Given the description of an element on the screen output the (x, y) to click on. 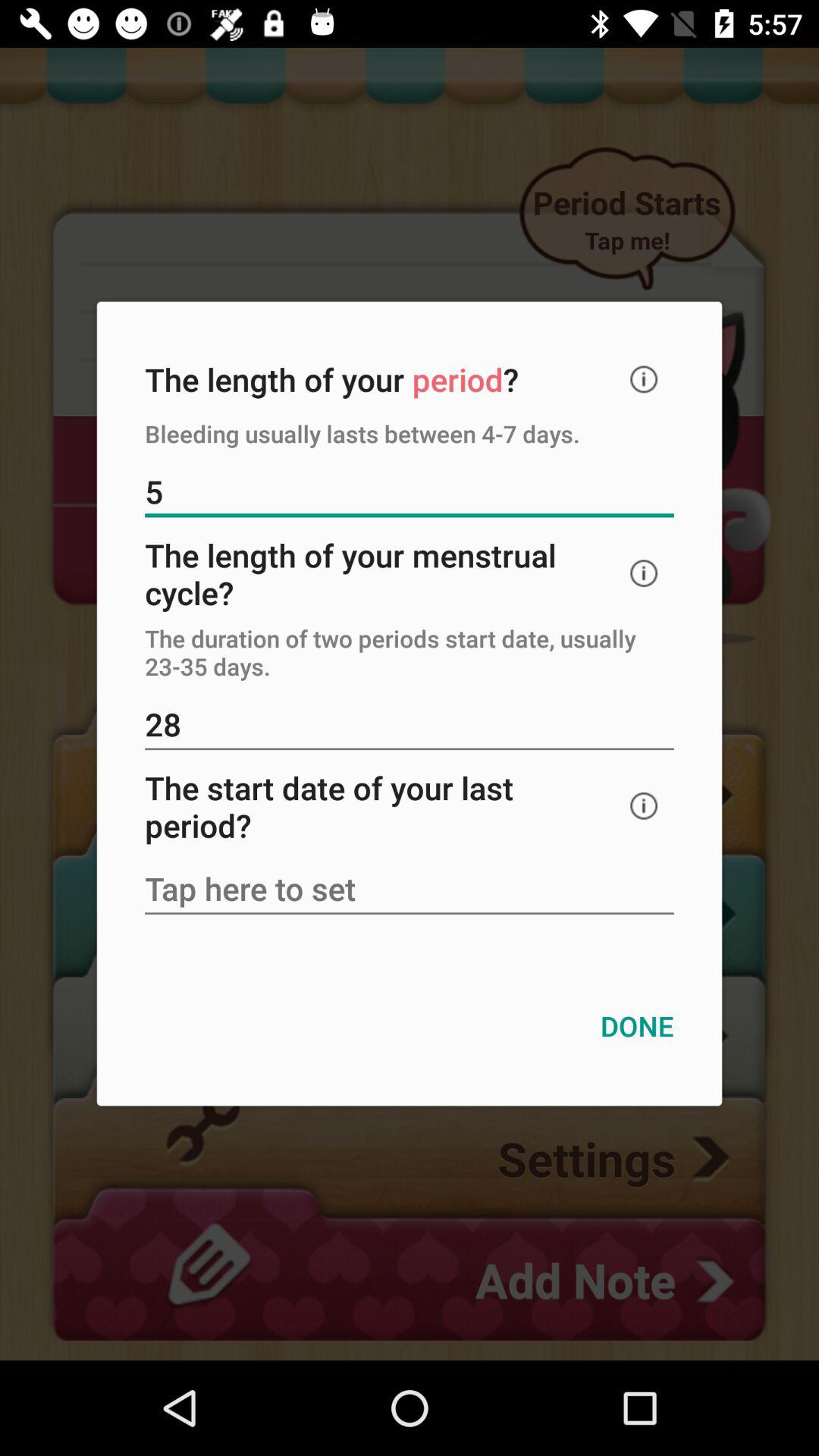
explain about this topic (643, 573)
